Given the description of an element on the screen output the (x, y) to click on. 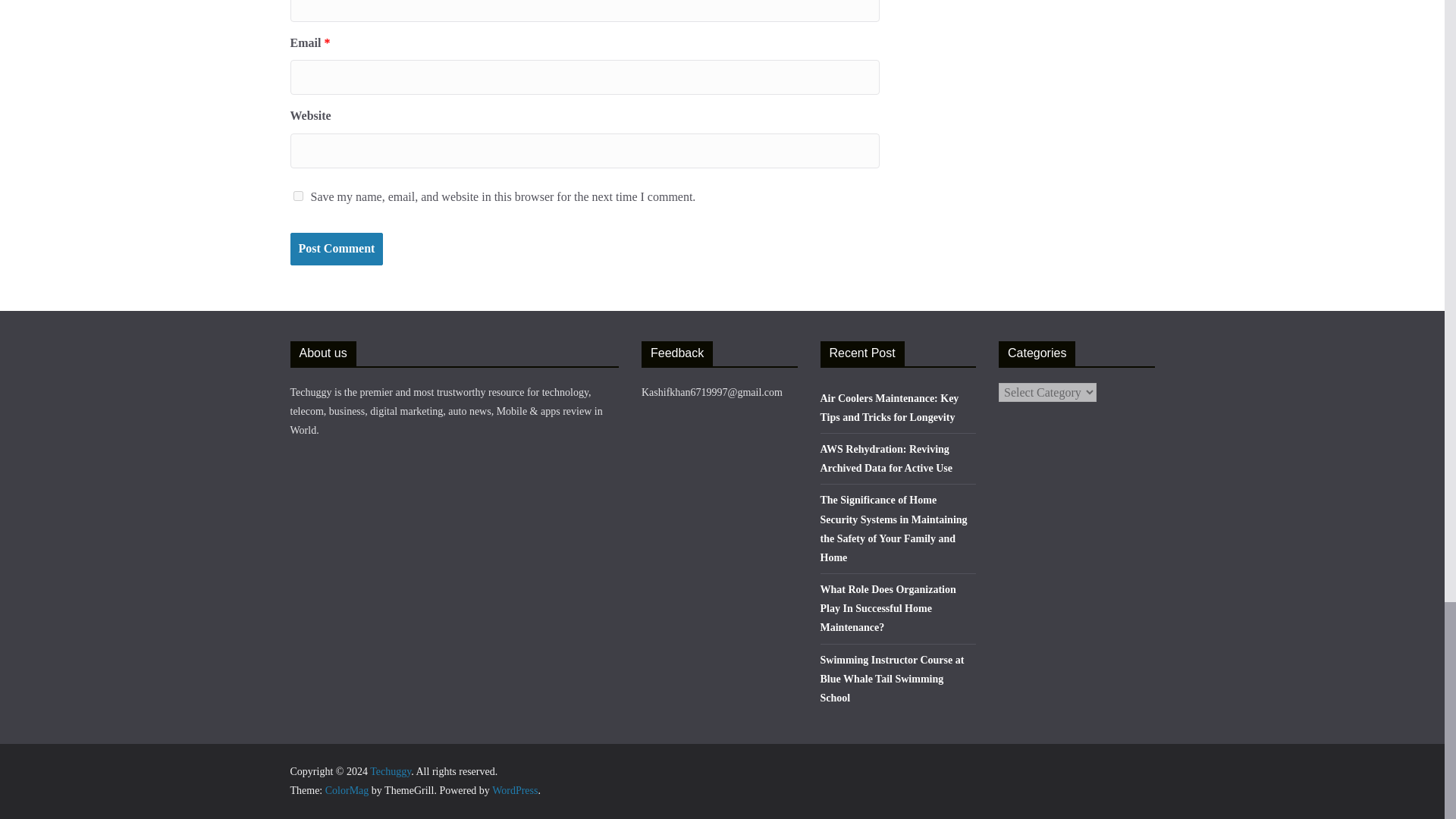
yes (297, 195)
Post Comment (335, 248)
Post Comment (335, 248)
